Given the description of an element on the screen output the (x, y) to click on. 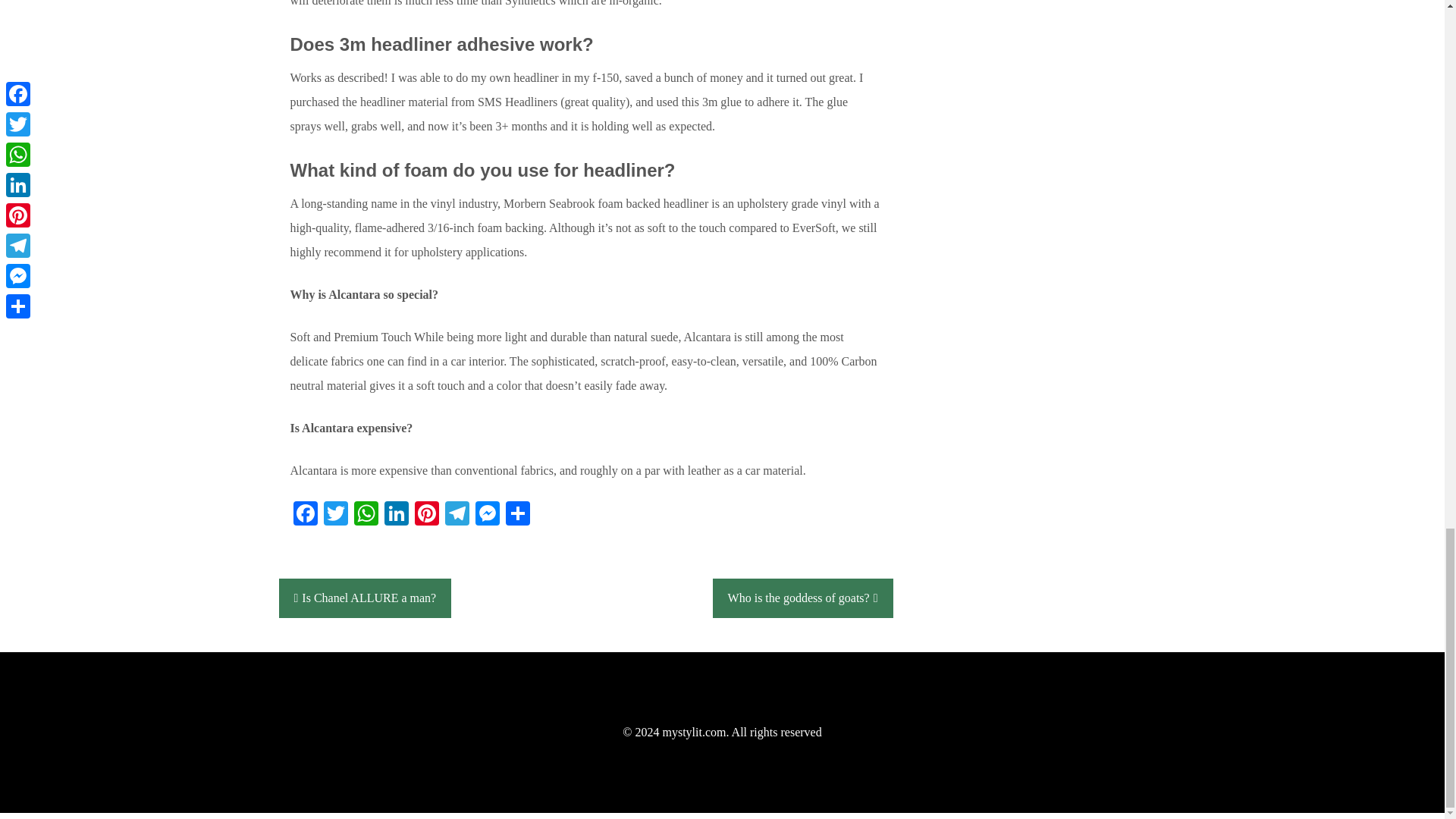
WhatsApp (365, 515)
WhatsApp (365, 515)
Pinterest (425, 515)
Twitter (335, 515)
Share (517, 515)
Messenger (486, 515)
Twitter (335, 515)
Telegram (456, 515)
Is Chanel ALLURE a man? (365, 598)
Messenger (486, 515)
Who is the goddess of goats? (803, 598)
Facebook (304, 515)
LinkedIn (395, 515)
Telegram (456, 515)
LinkedIn (395, 515)
